Given the description of an element on the screen output the (x, y) to click on. 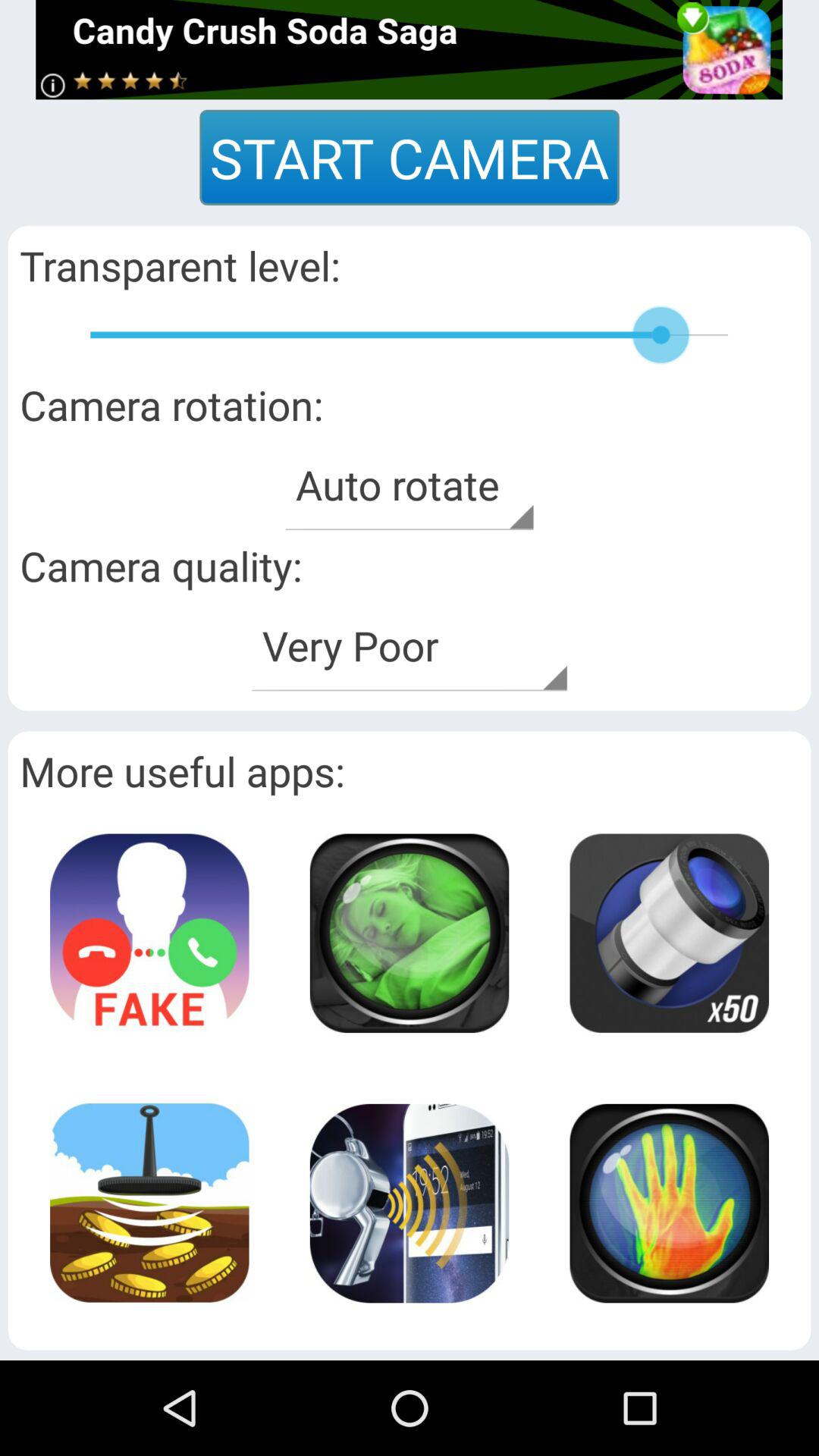
advertisement page (668, 932)
